Given the description of an element on the screen output the (x, y) to click on. 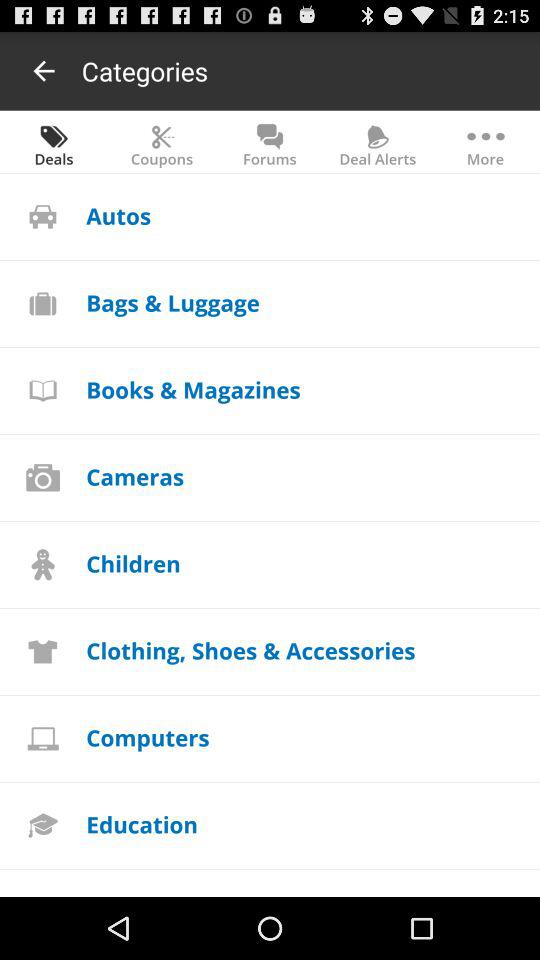
jump to the bags & luggage (172, 302)
